Given the description of an element on the screen output the (x, y) to click on. 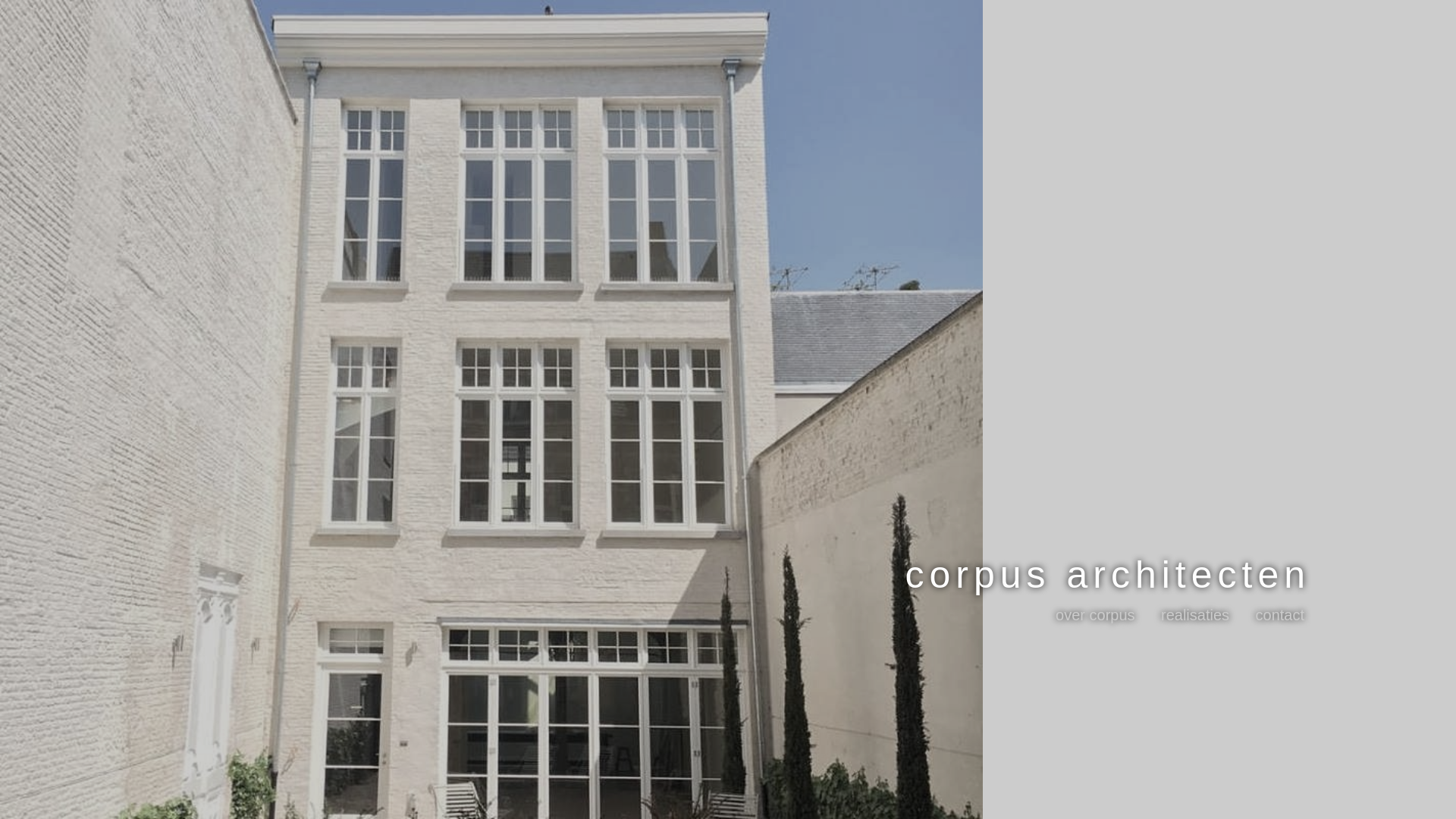
realisaties Element type: text (1195, 614)
over corpus Element type: text (1095, 614)
corpus architecten Element type: text (1107, 574)
contact Element type: text (1280, 614)
